Given the description of an element on the screen output the (x, y) to click on. 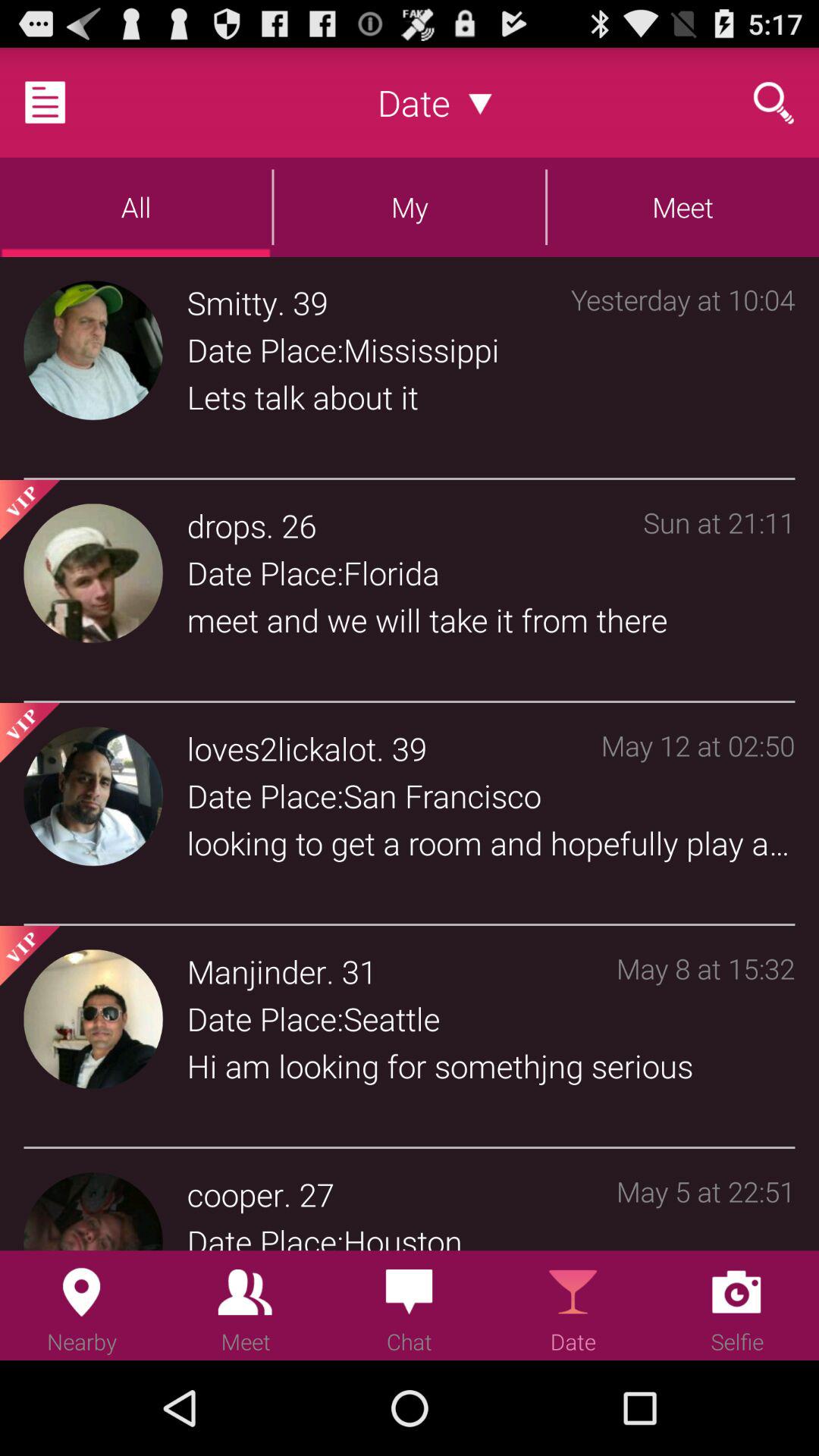
open the drops icon (226, 525)
